Given the description of an element on the screen output the (x, y) to click on. 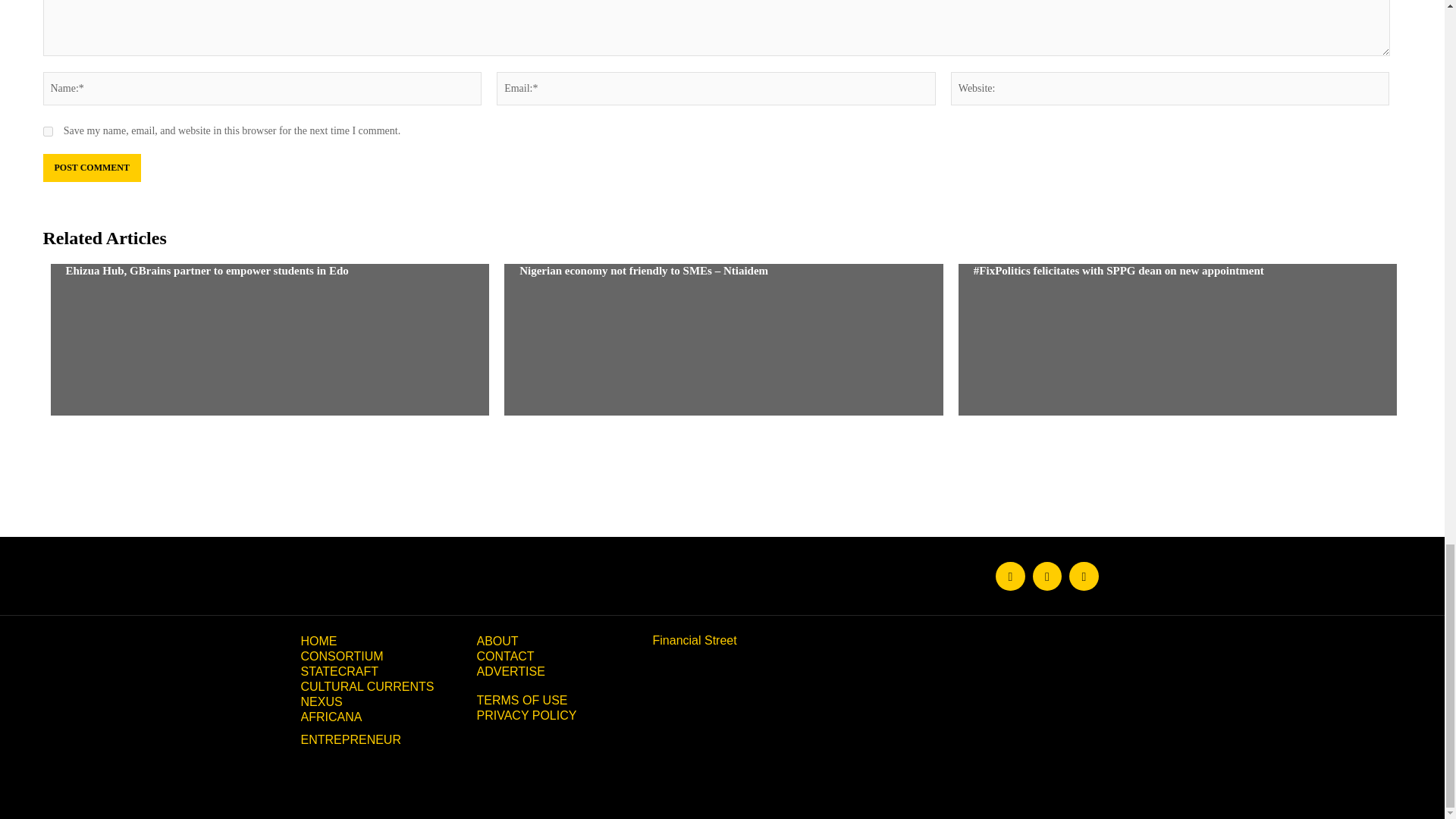
Post Comment (90, 167)
yes (47, 131)
